Given the description of an element on the screen output the (x, y) to click on. 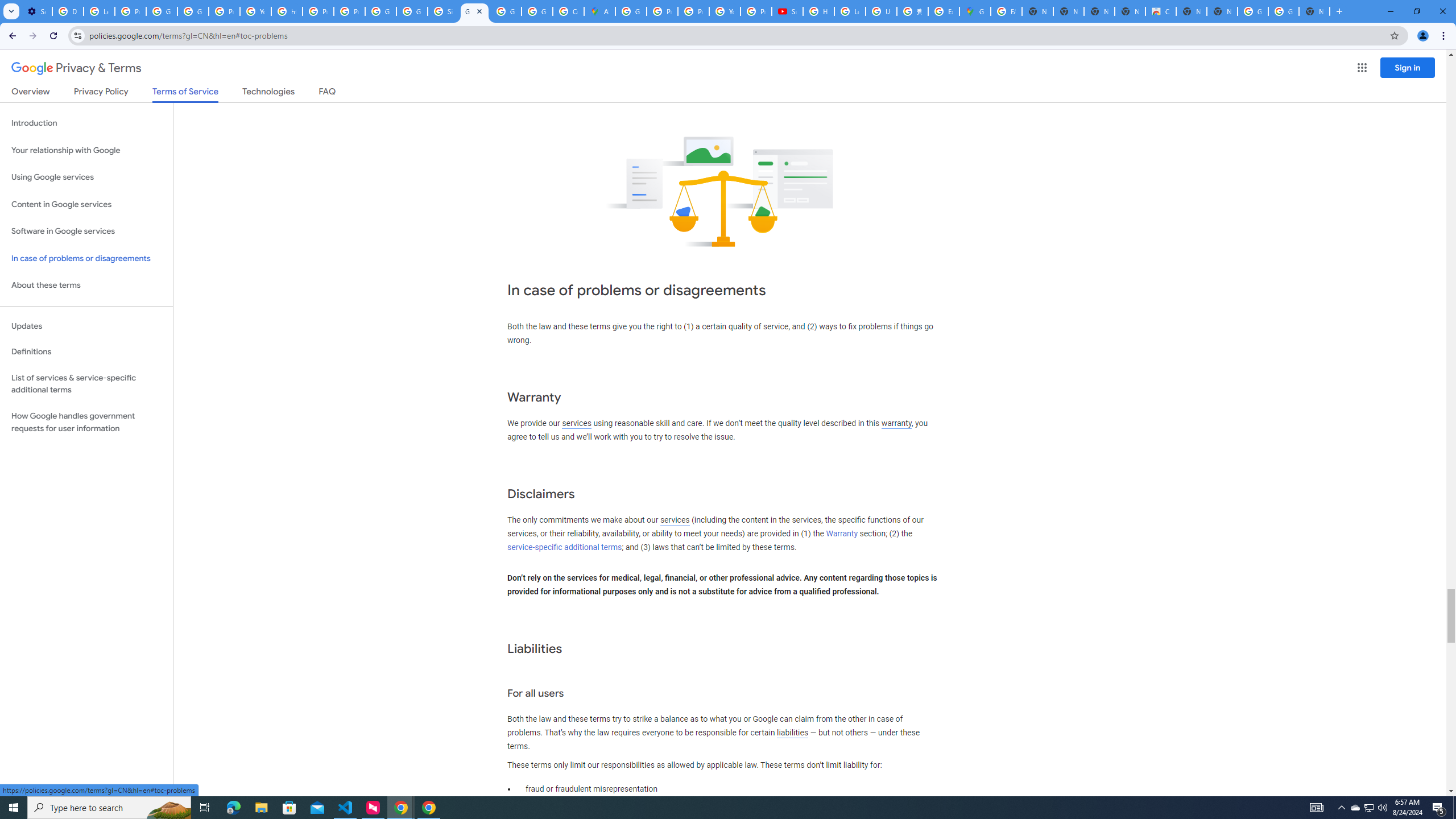
Overview (30, 93)
Bookmark this tab (1393, 35)
How Chrome protects your passwords - Google Chrome Help (818, 11)
FAQ (327, 93)
Minimize (1390, 11)
service-specific additional terms (563, 547)
YouTube (255, 11)
Content in Google services (86, 204)
YouTube (724, 11)
Create your Google Account (568, 11)
Using Google services (86, 176)
About these terms (86, 284)
